Given the description of an element on the screen output the (x, y) to click on. 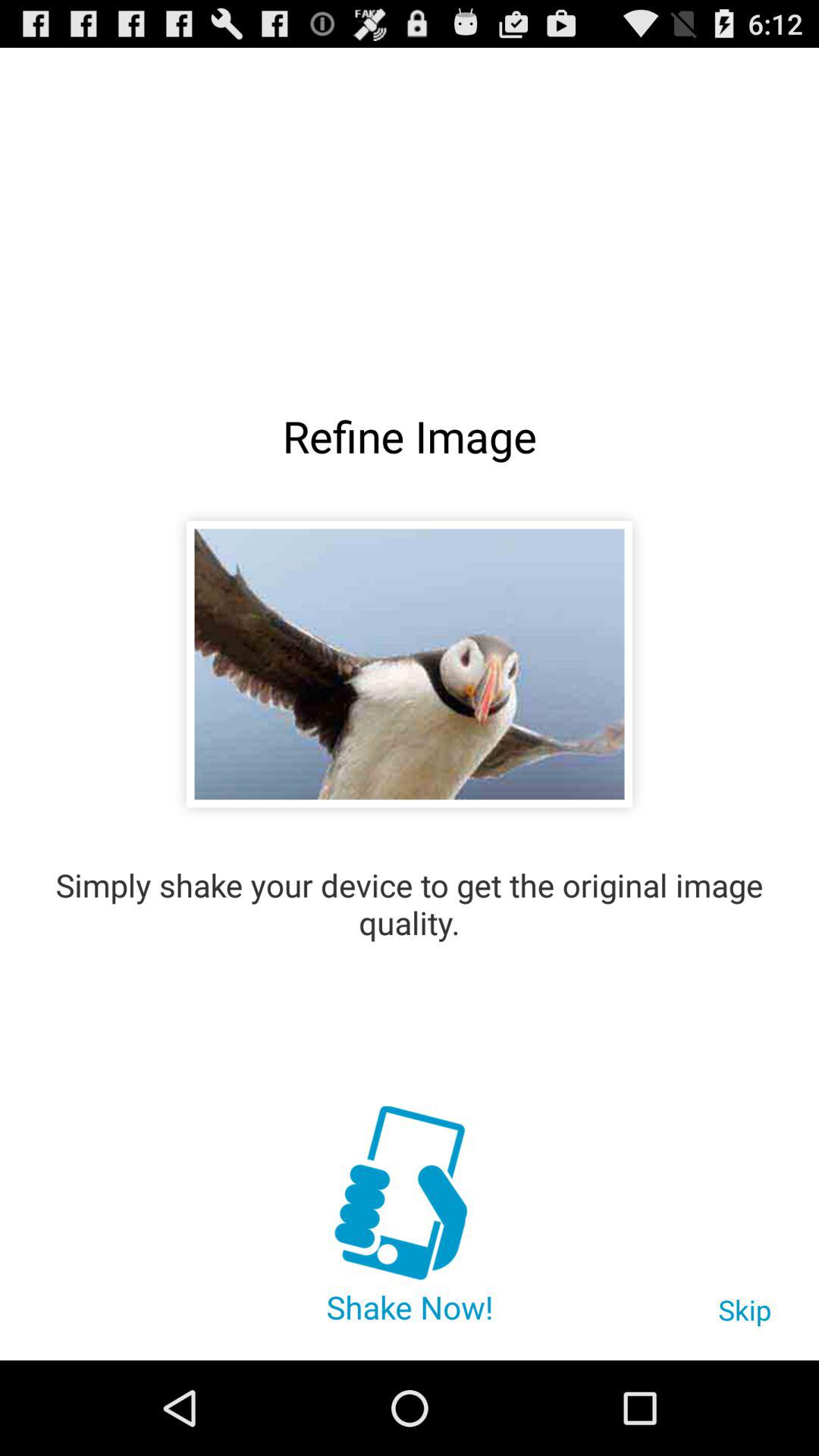
tap item to the left of the skip (408, 1195)
